Given the description of an element on the screen output the (x, y) to click on. 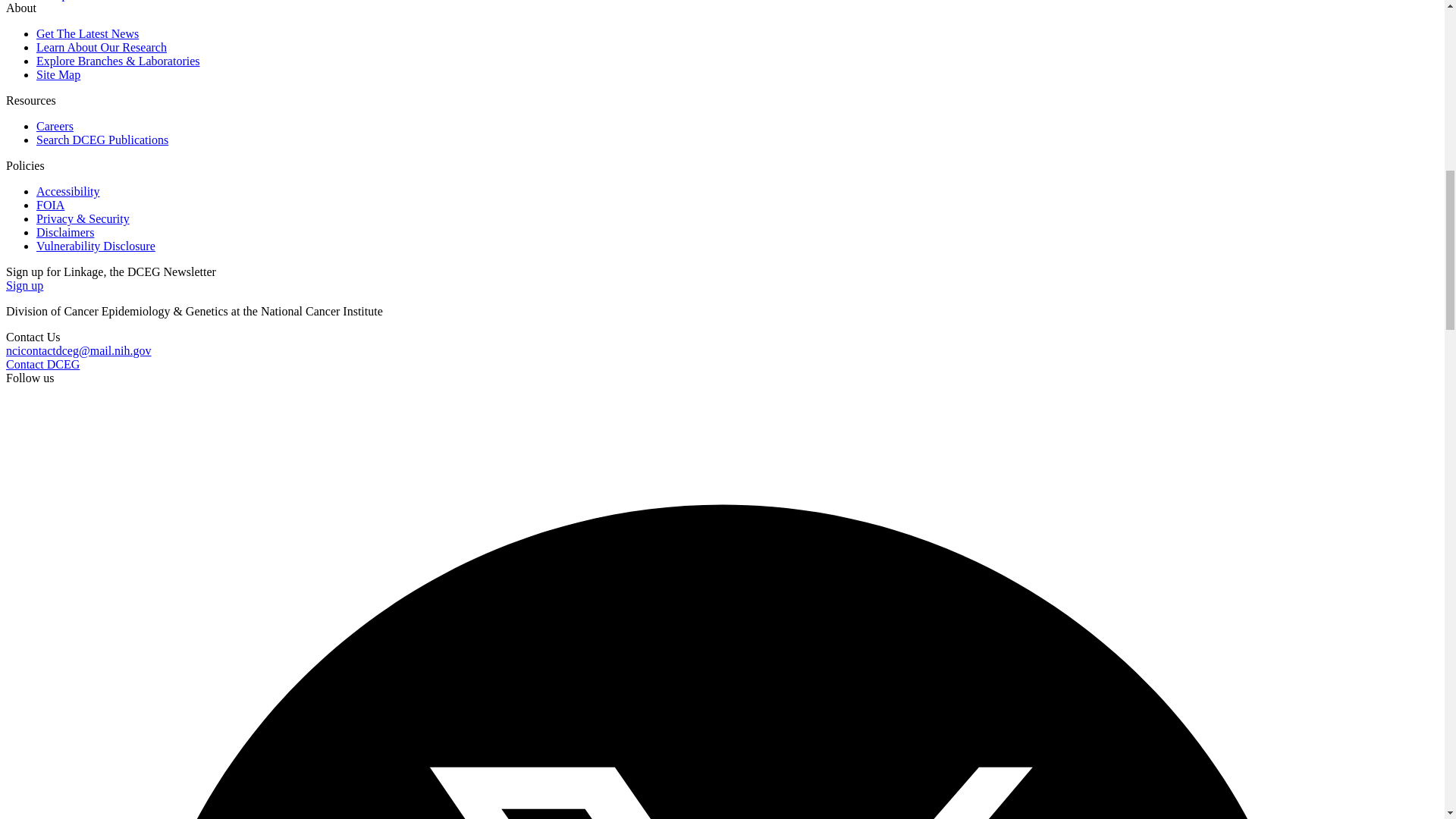
FOIA (50, 205)
Get The Latest News (87, 33)
Back To Top (36, 0)
Accessibility (68, 191)
Site Map (58, 74)
Careers (55, 125)
Search DCEG Publications (102, 139)
Learn About Our Research (101, 47)
